Given the description of an element on the screen output the (x, y) to click on. 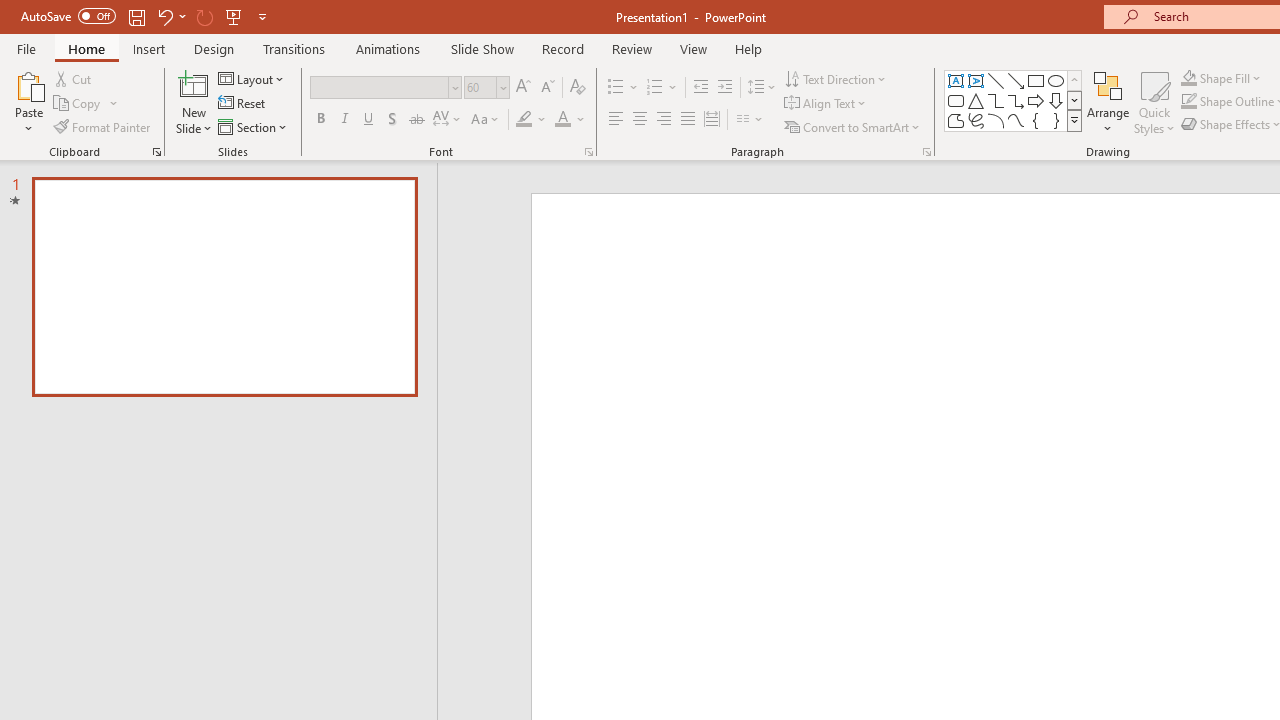
Shape Fill Orange, Accent 2 (1188, 78)
